Given the description of an element on the screen output the (x, y) to click on. 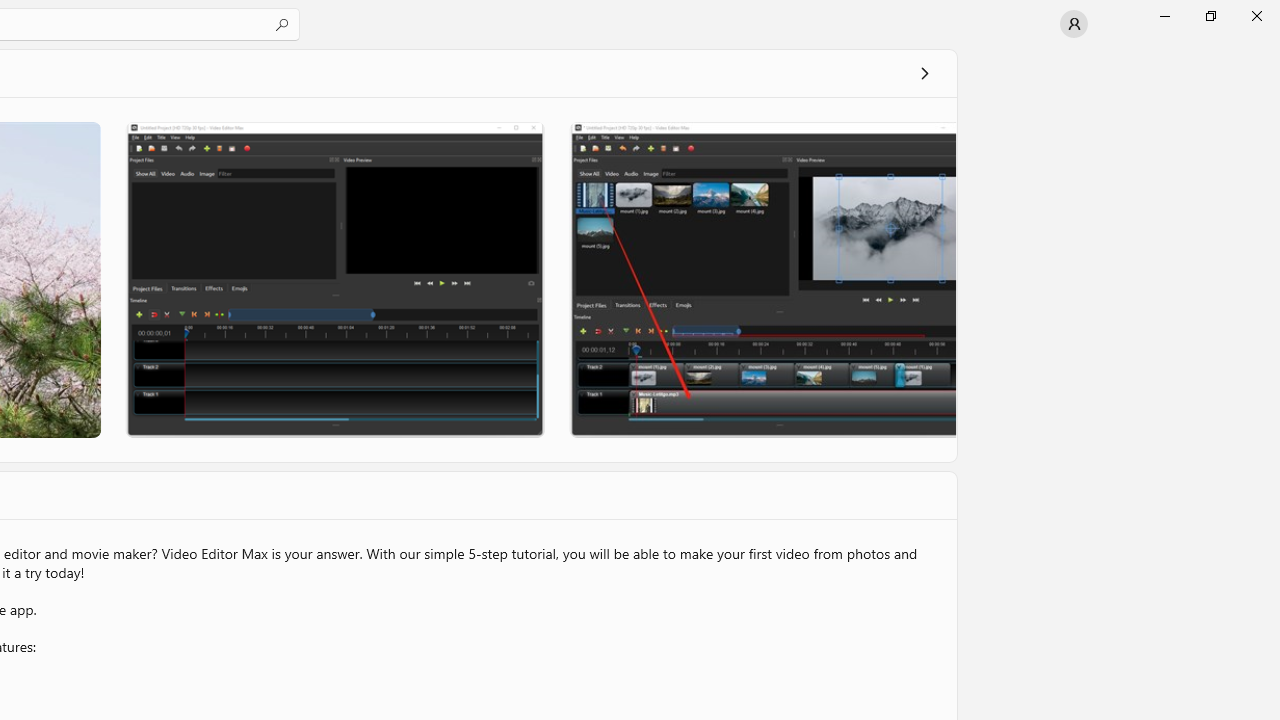
Minimize Microsoft Store (1164, 15)
Screenshot 3 (762, 279)
See all (924, 72)
Close Microsoft Store (1256, 15)
User profile (1073, 24)
Restore Microsoft Store (1210, 15)
Screenshot 2 (334, 279)
